Given the description of an element on the screen output the (x, y) to click on. 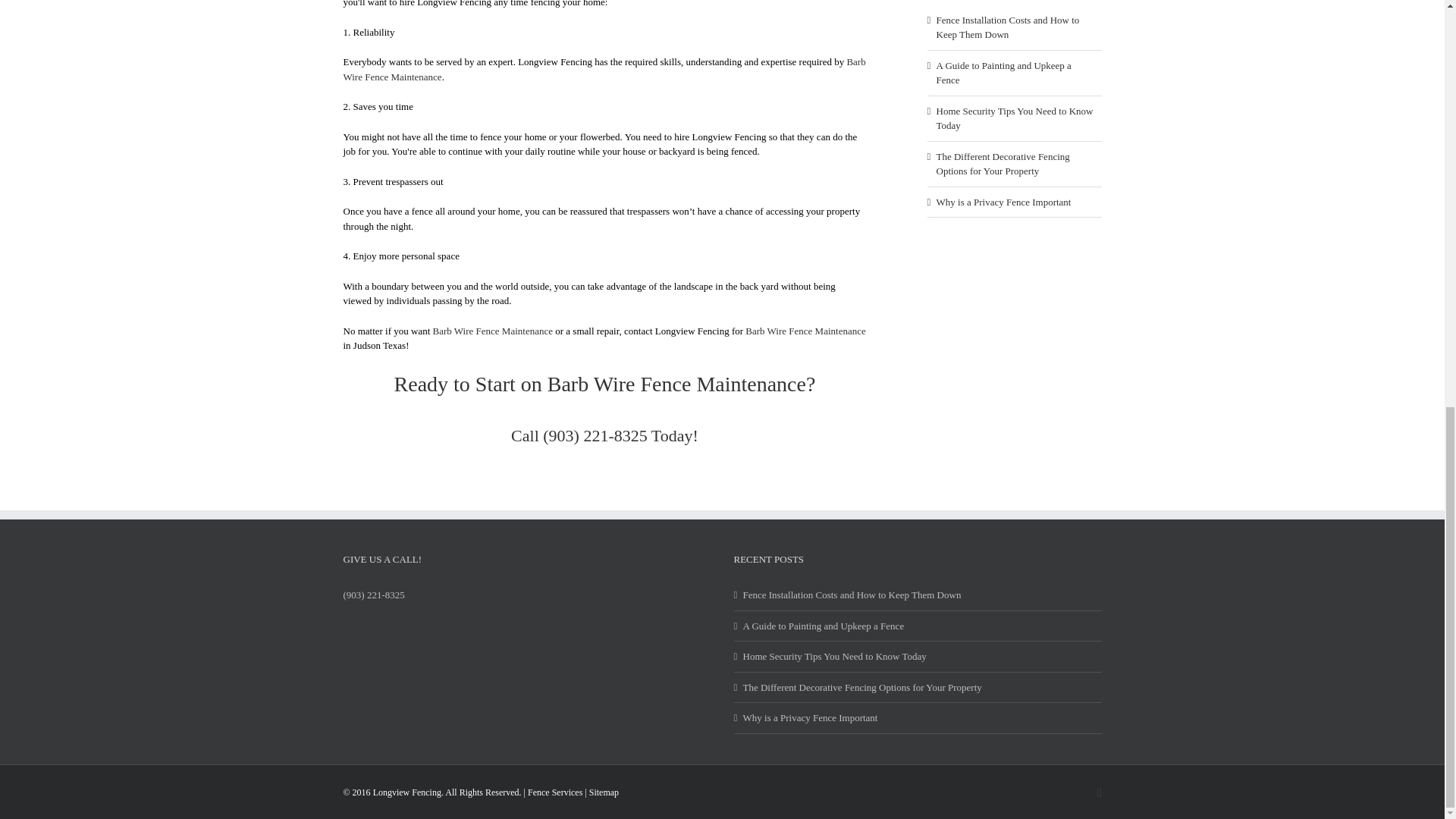
A Guide to Painting and Upkeep a Fence (918, 626)
Barb Wire Fence Maintenance (492, 330)
Fence Services (554, 792)
Home Security Tips You Need to Know Today (1014, 118)
The Different Decorative Fencing Options for Your Property (1002, 163)
Fence Installation Costs and How to Keep Them Down (1007, 27)
Barb Wire Fence Maintenance (603, 69)
Barb Wire Fence Maintenance (676, 383)
Fence Installation Costs and How to Keep Them Down (918, 595)
Why is a Privacy Fence Important (918, 717)
